Given the description of an element on the screen output the (x, y) to click on. 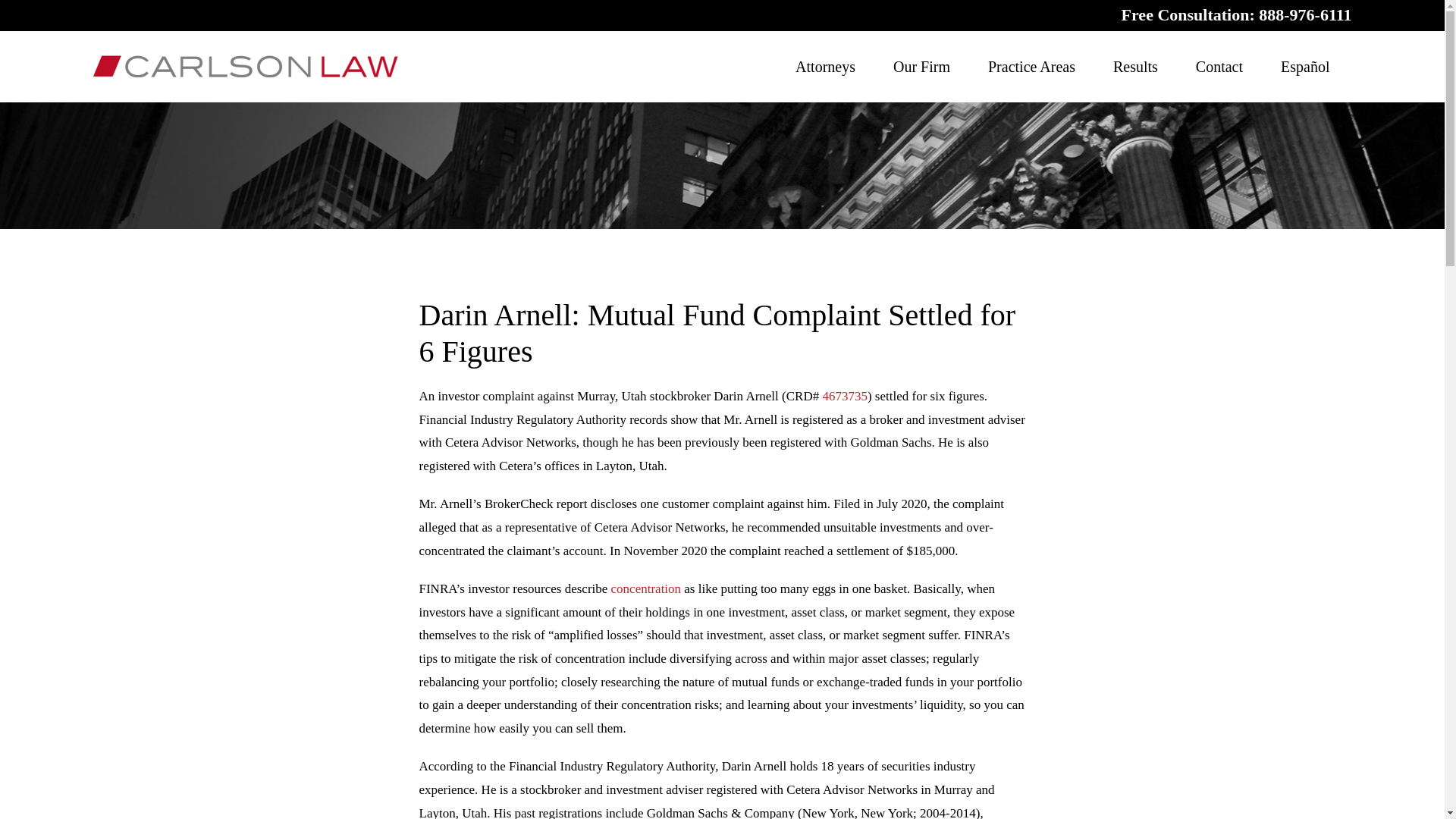
888-976-6111 (1305, 14)
Results (1135, 66)
Practice Areas (1031, 66)
Carlson Law (245, 65)
Our Firm (922, 66)
Attorneys (825, 66)
